Given the description of an element on the screen output the (x, y) to click on. 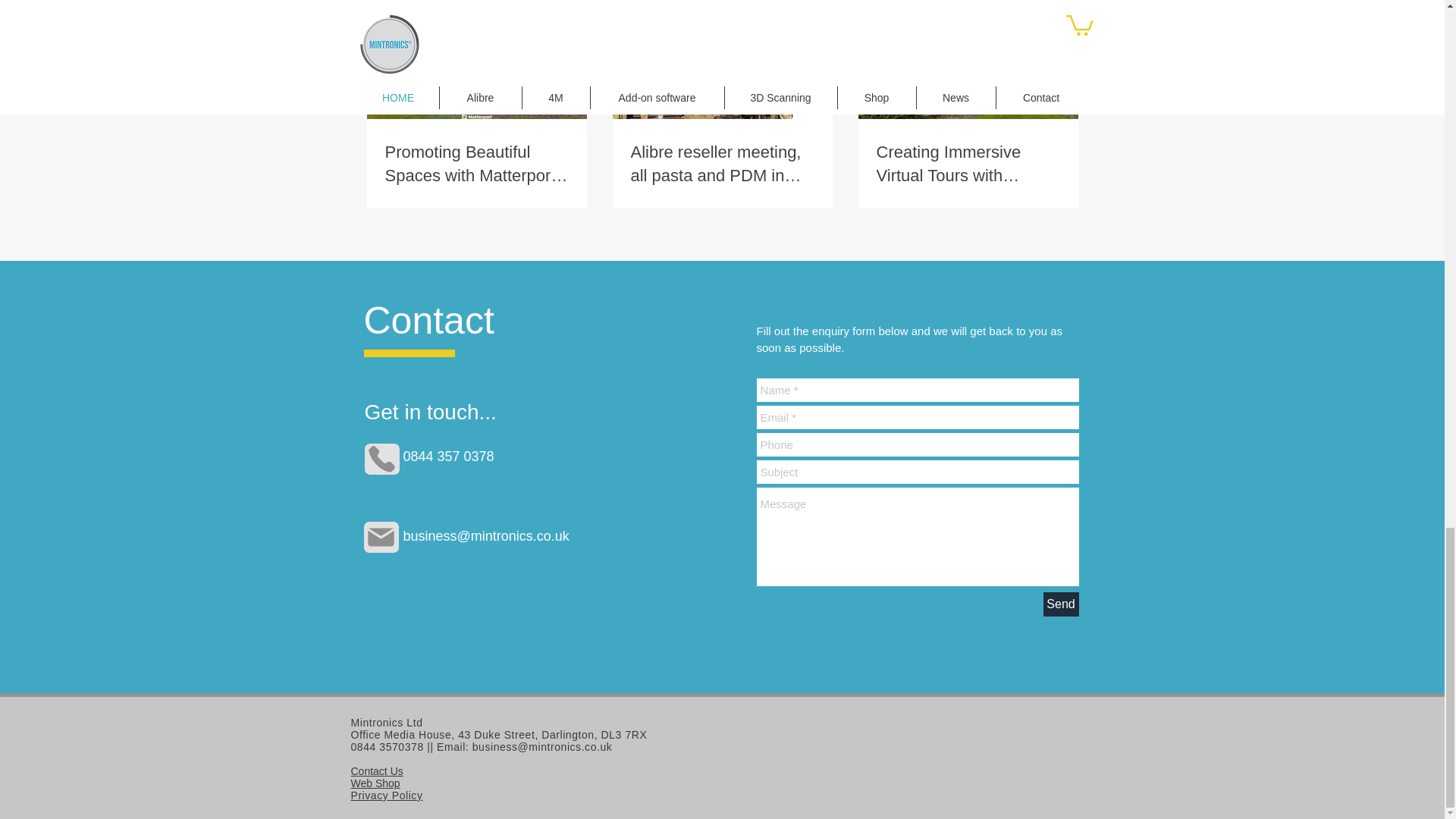
Send (1060, 604)
Promoting Beautiful Spaces with Matterport Virtual Tours (477, 164)
Alibre reseller meeting, all pasta and PDM in Milan (721, 164)
Creating Immersive Virtual Tours with Matterport (967, 164)
Web Shop (374, 783)
Contact Us (376, 770)
Privacy Policy (386, 795)
